Given the description of an element on the screen output the (x, y) to click on. 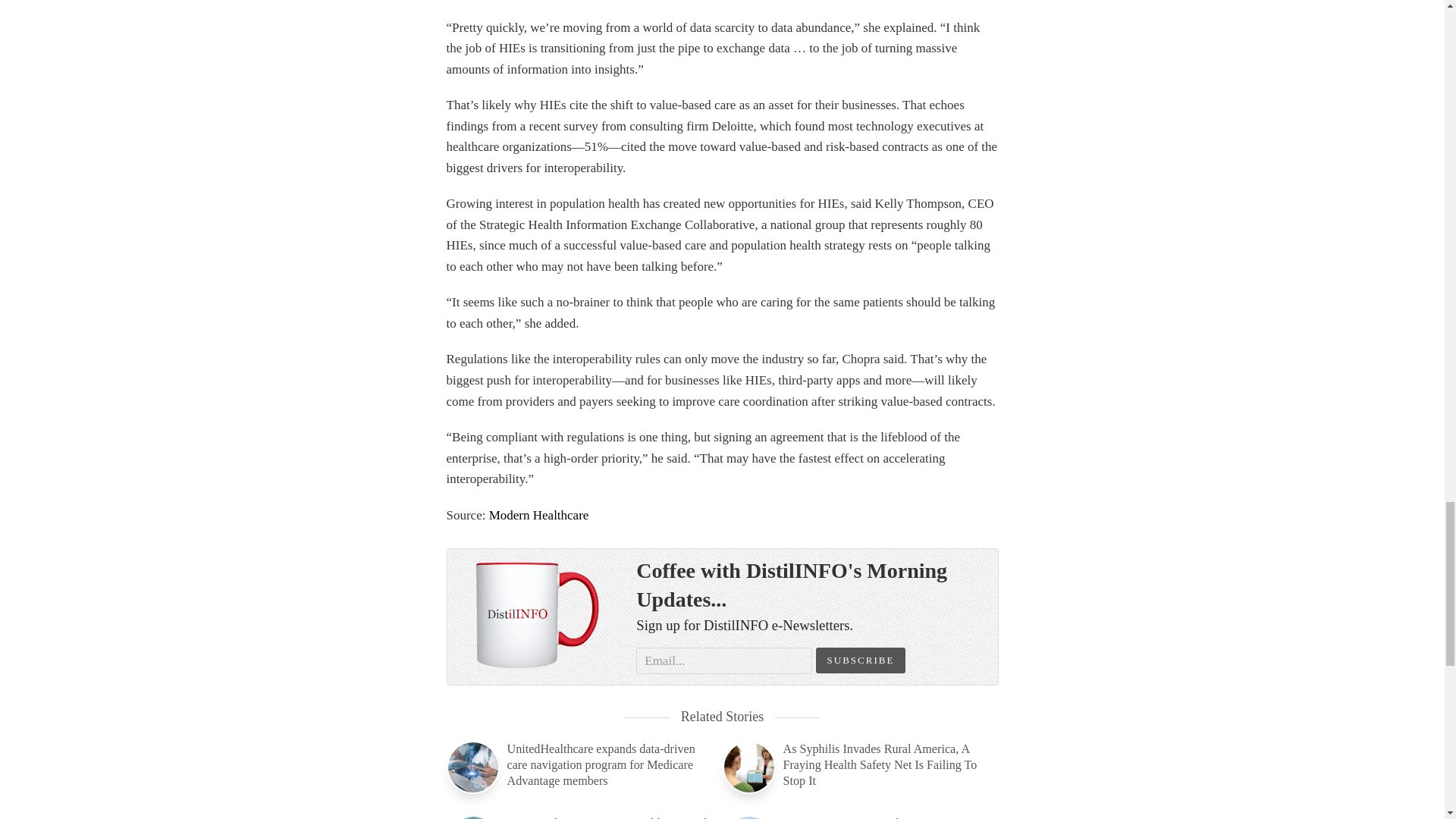
10 Big Advancements in Healthcare Tech During the Pandemic (579, 816)
Modern Healthcare (539, 514)
recent survey (563, 125)
SUBSCRIBE (860, 659)
SUBSCRIBE (860, 659)
